Given the description of an element on the screen output the (x, y) to click on. 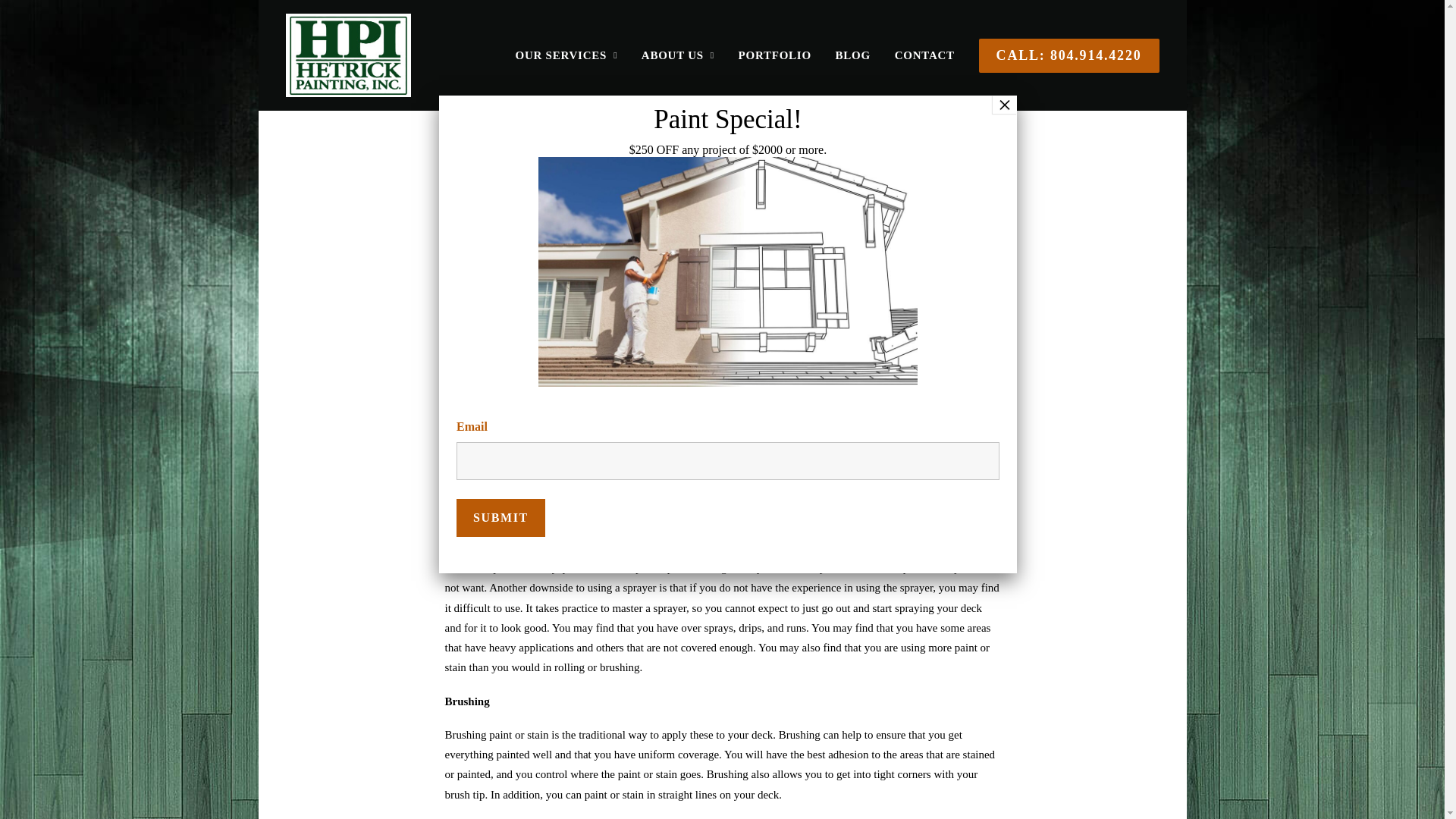
Submit (500, 517)
CALL: 804.914.4220 (1063, 54)
Our Services (571, 55)
Call: 804.914.4220 (1063, 54)
Submit (500, 517)
OUR SERVICES (571, 55)
